Given the description of an element on the screen output the (x, y) to click on. 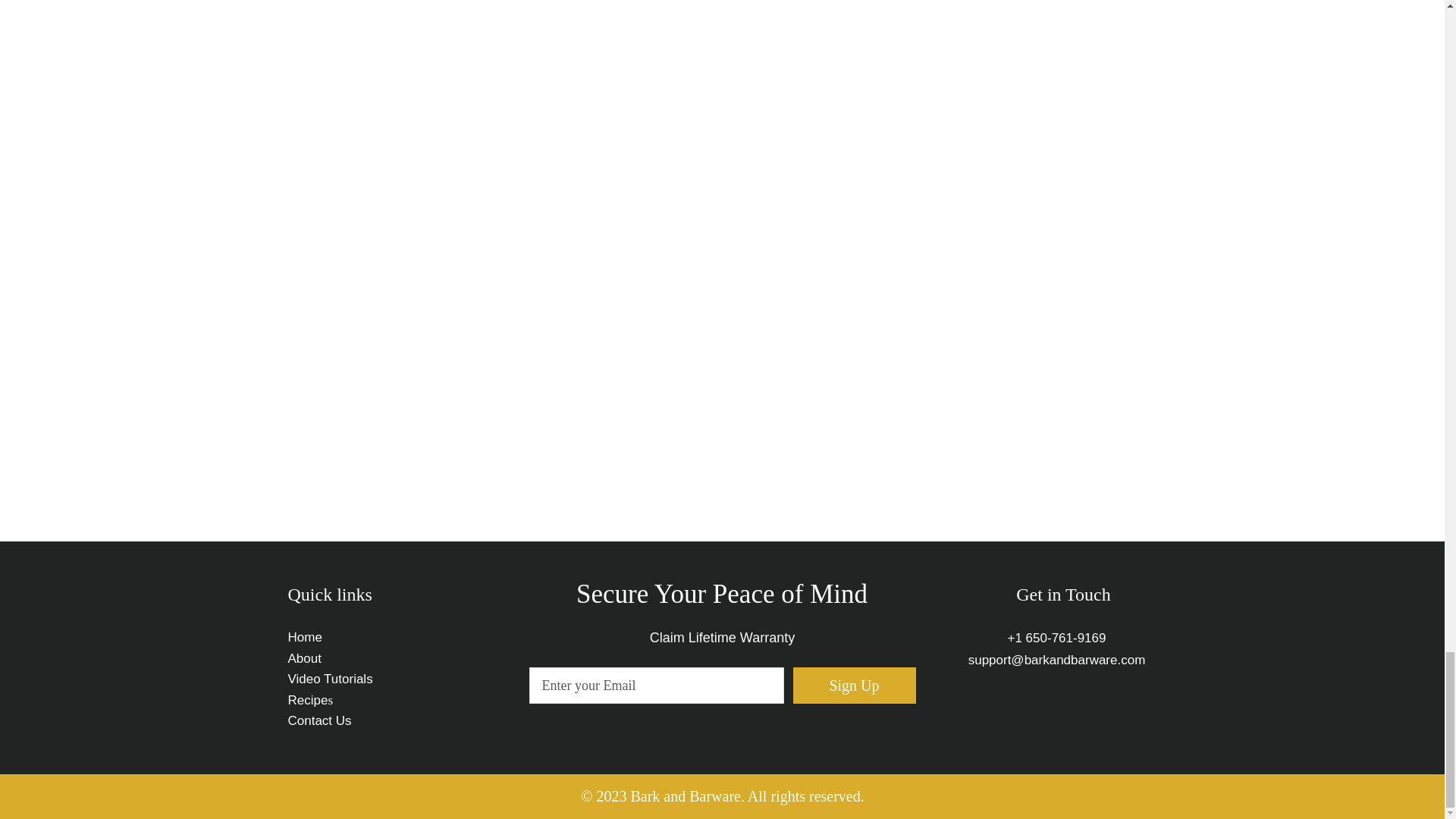
Sign Up (854, 685)
Contact Us (320, 720)
About  (306, 657)
Recipes (310, 699)
Home (304, 636)
Video Tutorials (330, 678)
